Given the description of an element on the screen output the (x, y) to click on. 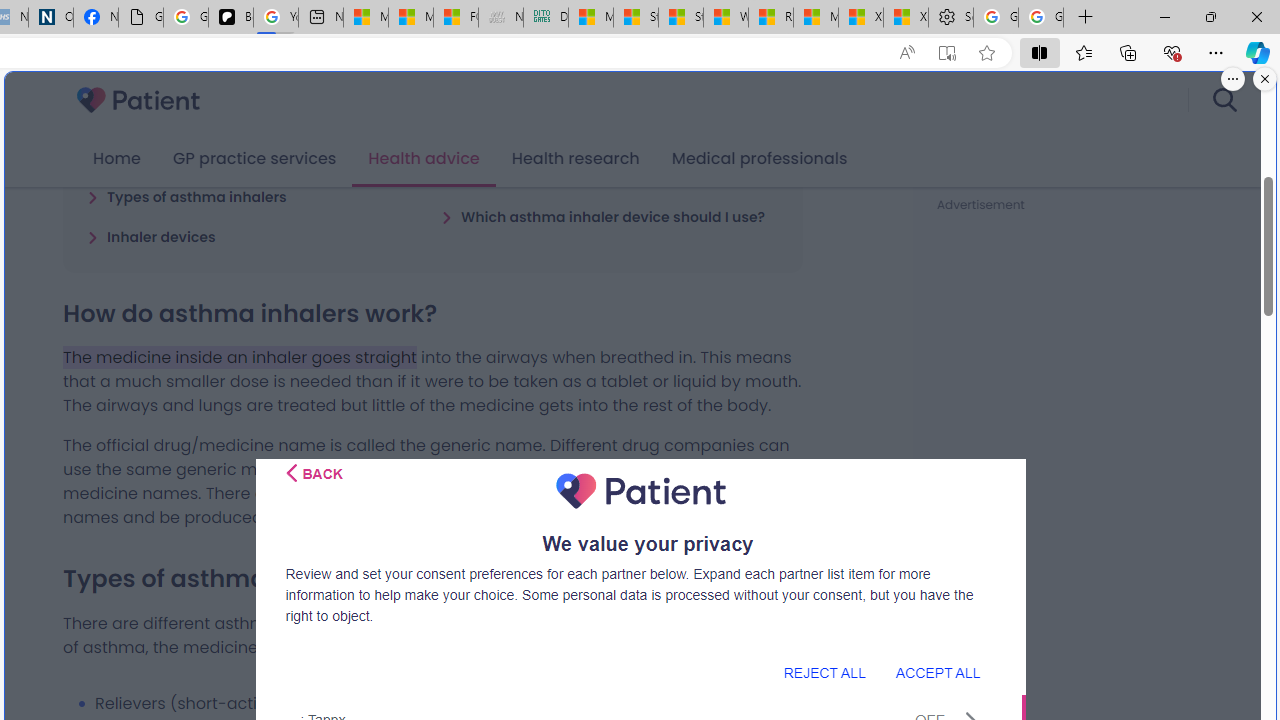
Relievers (short-acting bronchodilators). (448, 703)
Navy Quest (500, 17)
search (1223, 99)
Which asthma inhaler device should I use? (603, 216)
Google Analytics Opt-out Browser Add-on Download Page (140, 17)
Settings and more (Alt+F) (1215, 52)
Restore (1210, 16)
FOX News - MSN (455, 17)
Favorites (1083, 52)
Browser essentials (1171, 52)
